Given the description of an element on the screen output the (x, y) to click on. 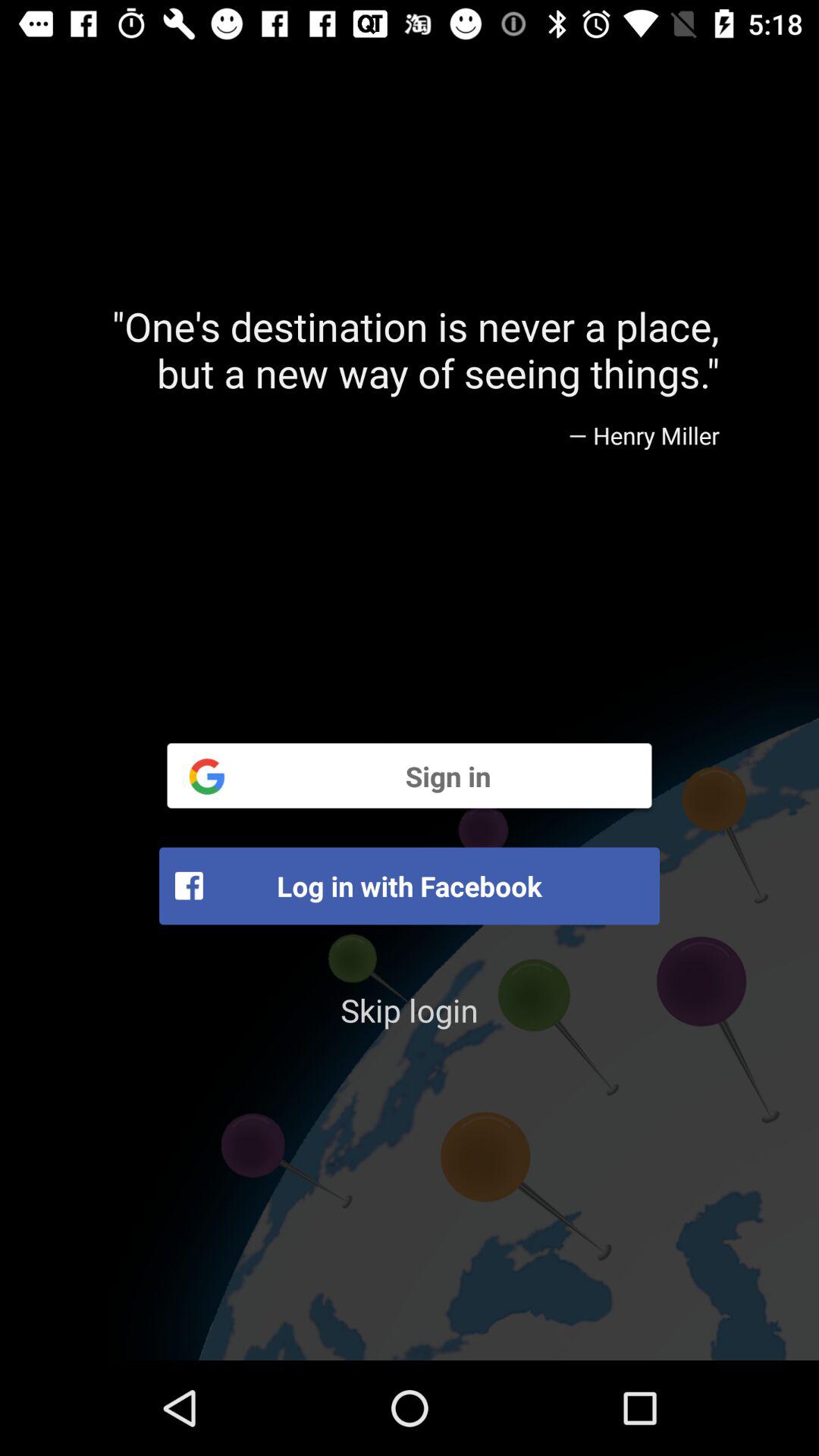
jump to the sign in item (409, 775)
